Given the description of an element on the screen output the (x, y) to click on. 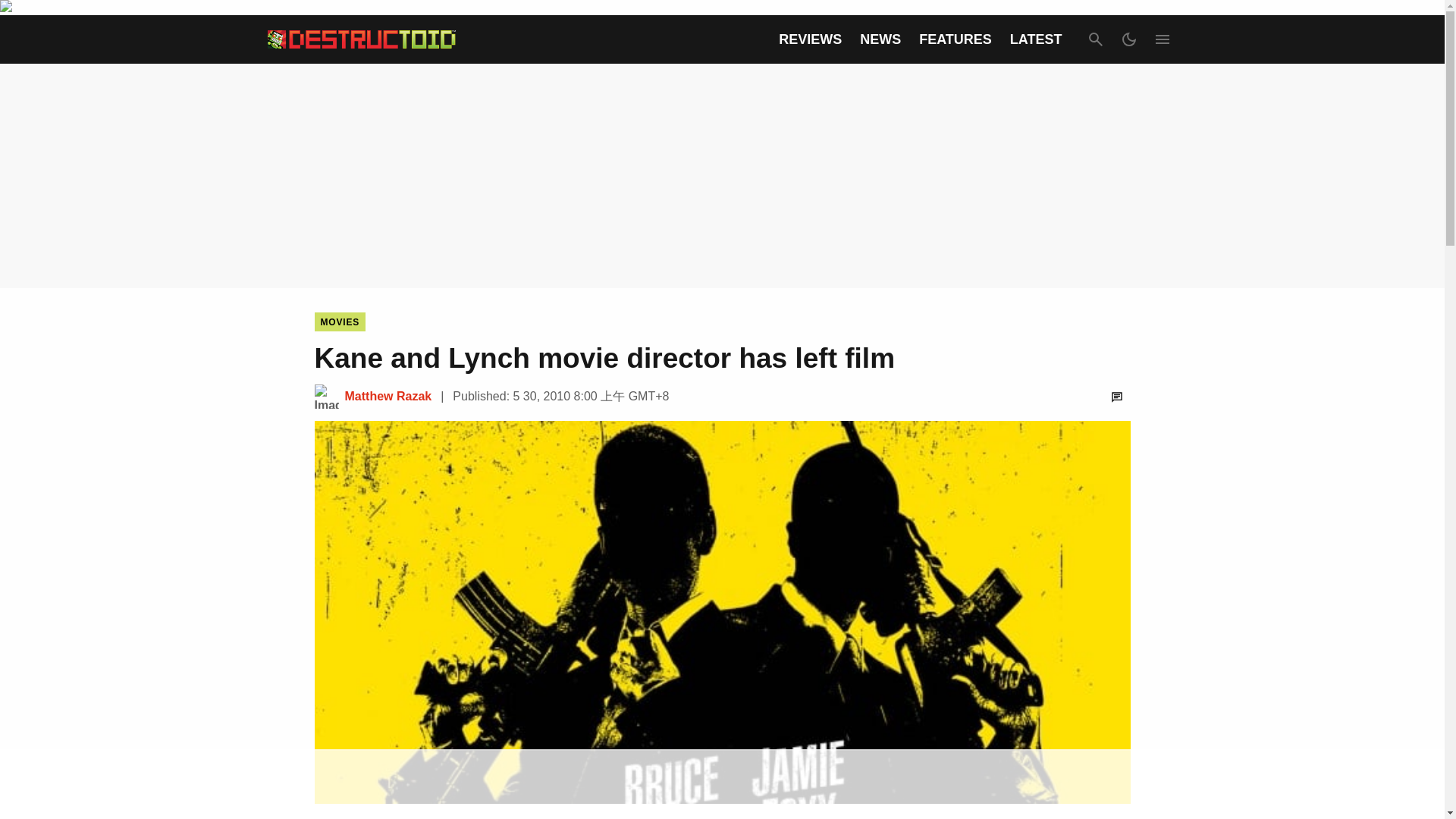
3rd party ad content (721, 785)
FEATURES (954, 38)
NEWS (880, 38)
MOVIES (339, 321)
Dark Mode (1127, 39)
Expand Menu (1161, 39)
REVIEWS (809, 38)
LATEST (1036, 38)
Search (1094, 39)
